Given the description of an element on the screen output the (x, y) to click on. 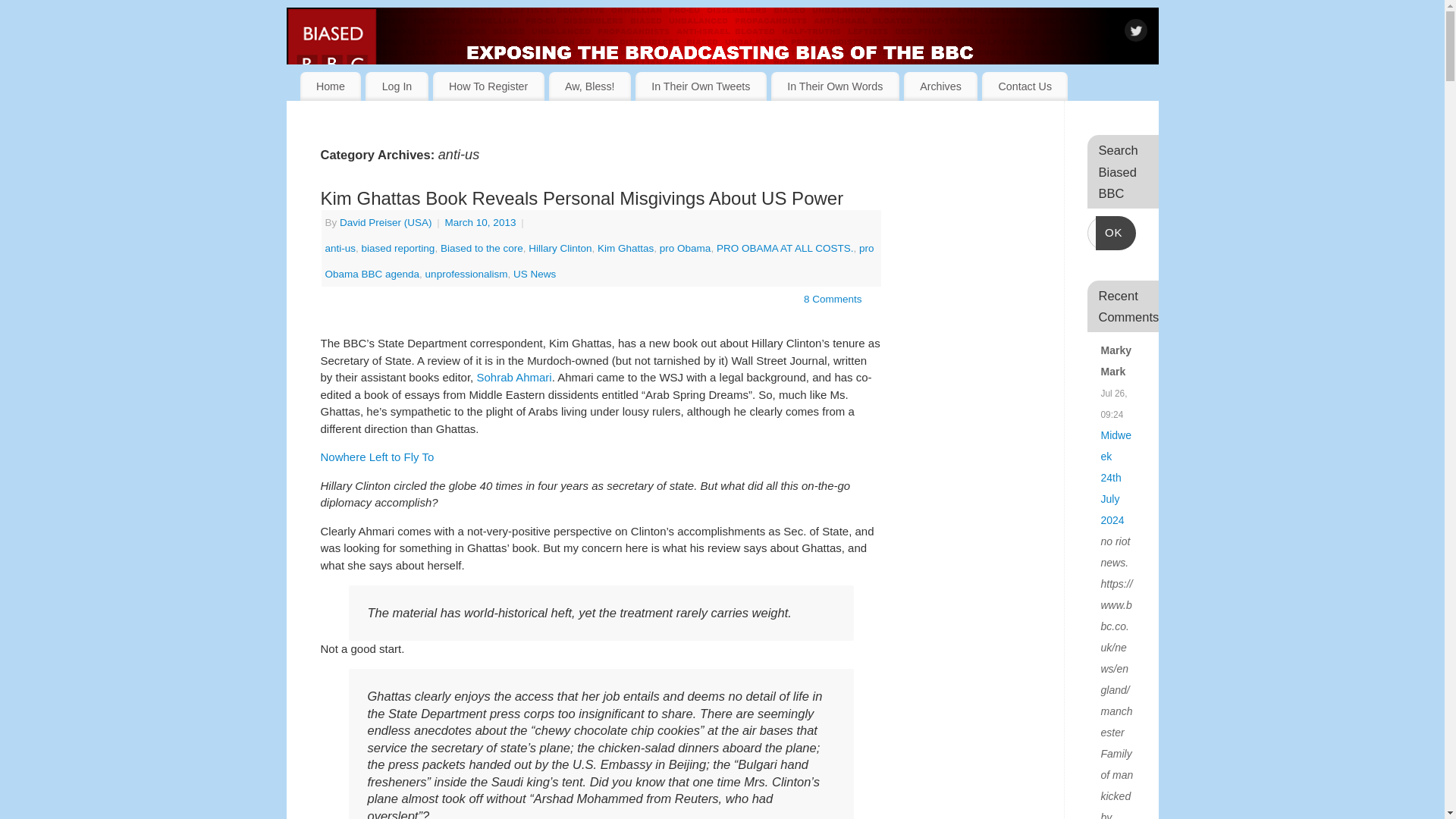
pro Obama (685, 247)
Biased to the core (481, 247)
Hillary Clinton (559, 247)
Home (330, 86)
anti-us (339, 247)
How To Register (488, 86)
US News (534, 274)
Contact Us (1024, 86)
biased reporting (398, 247)
Archives (940, 86)
Sohrab Ahmari (513, 377)
8 Comments (832, 298)
Log In (396, 86)
Kim Ghattas (624, 247)
PRO OBAMA AT ALL COSTS. (784, 247)
